Given the description of an element on the screen output the (x, y) to click on. 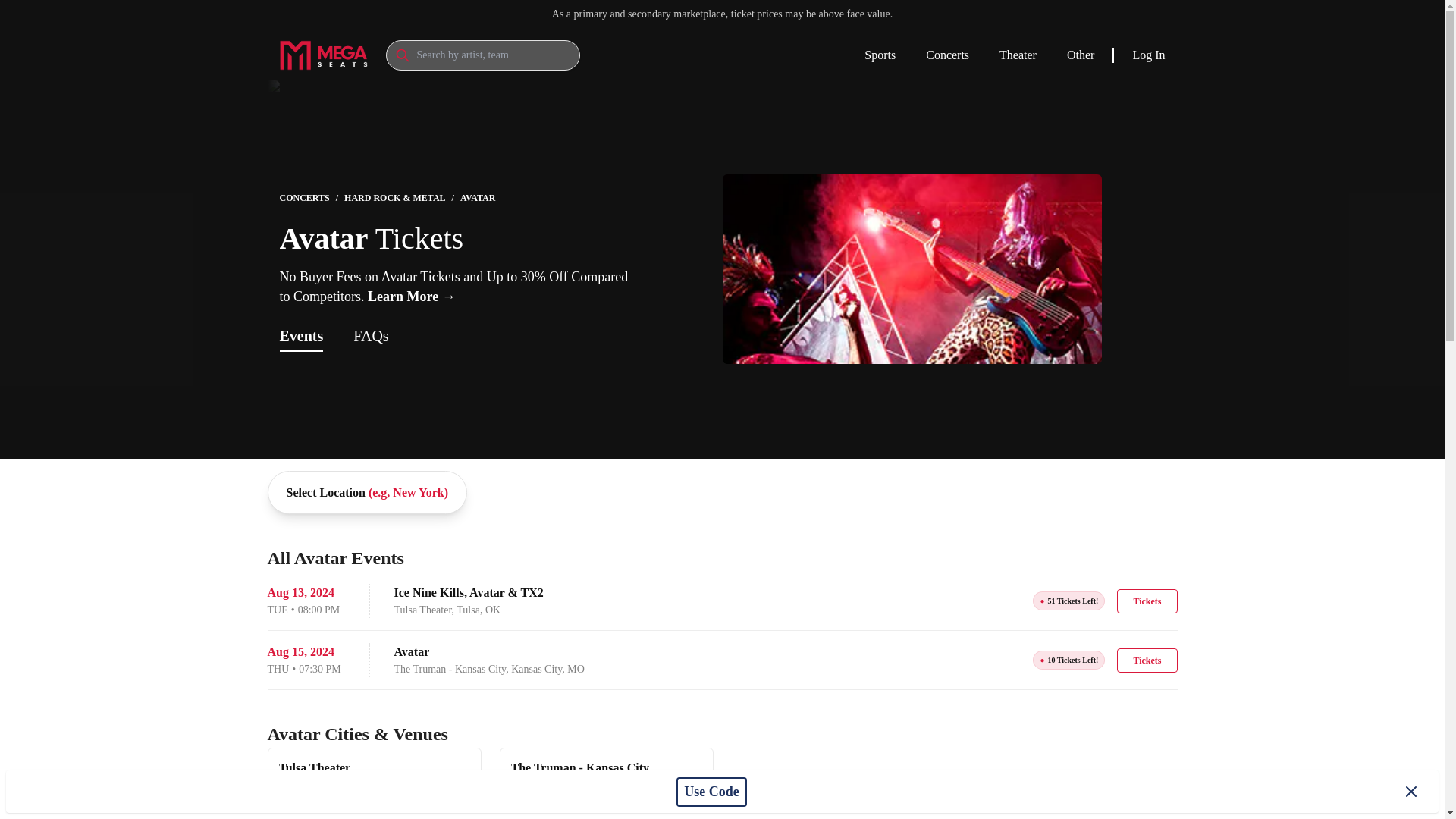
Avatar at The Truman - Kansas City, Kansas City, MO,  (721, 659)
CONCERTS (304, 197)
Tickets (1146, 660)
AVATAR (477, 197)
Avatar Tulsa, OK - Tulsa Theater (374, 774)
Log In (1148, 54)
Avatar Kansas City, MO - The Truman - Kansas City (606, 774)
Theater (1017, 55)
Concerts (947, 55)
Events (301, 335)
Other (1080, 55)
FAQs (606, 774)
